Given the description of an element on the screen output the (x, y) to click on. 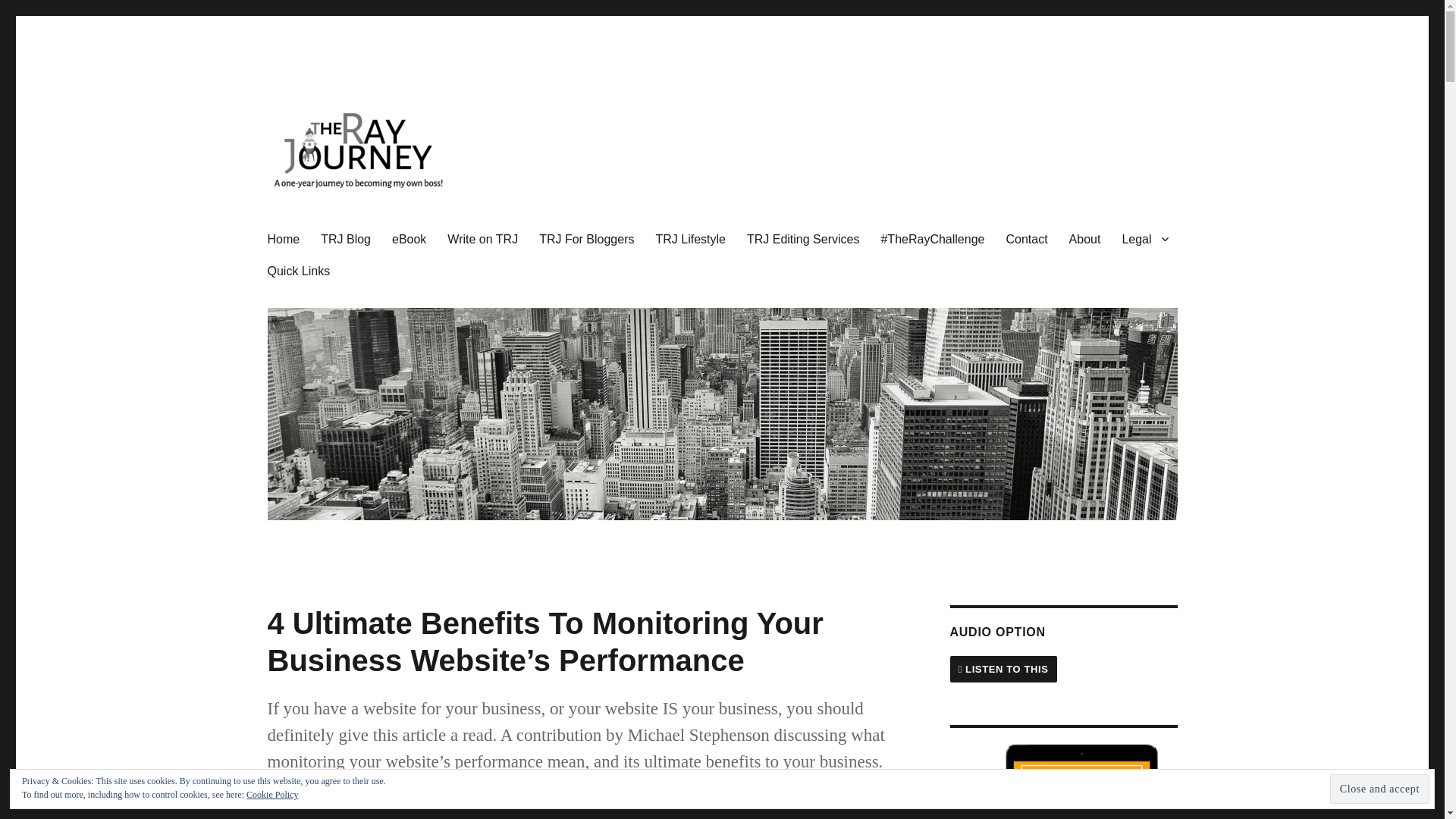
Close and accept (1379, 788)
Quick Links (298, 270)
The Ray Journey (352, 225)
TRJ Editing Services (803, 238)
Home (283, 238)
About (1085, 238)
TRJ Blog (345, 238)
eBook (408, 238)
Write on TRJ (482, 238)
TRJ For Bloggers (586, 238)
Contact (1026, 238)
TRJ Lifestyle (690, 238)
Legal (1143, 238)
